Given the description of an element on the screen output the (x, y) to click on. 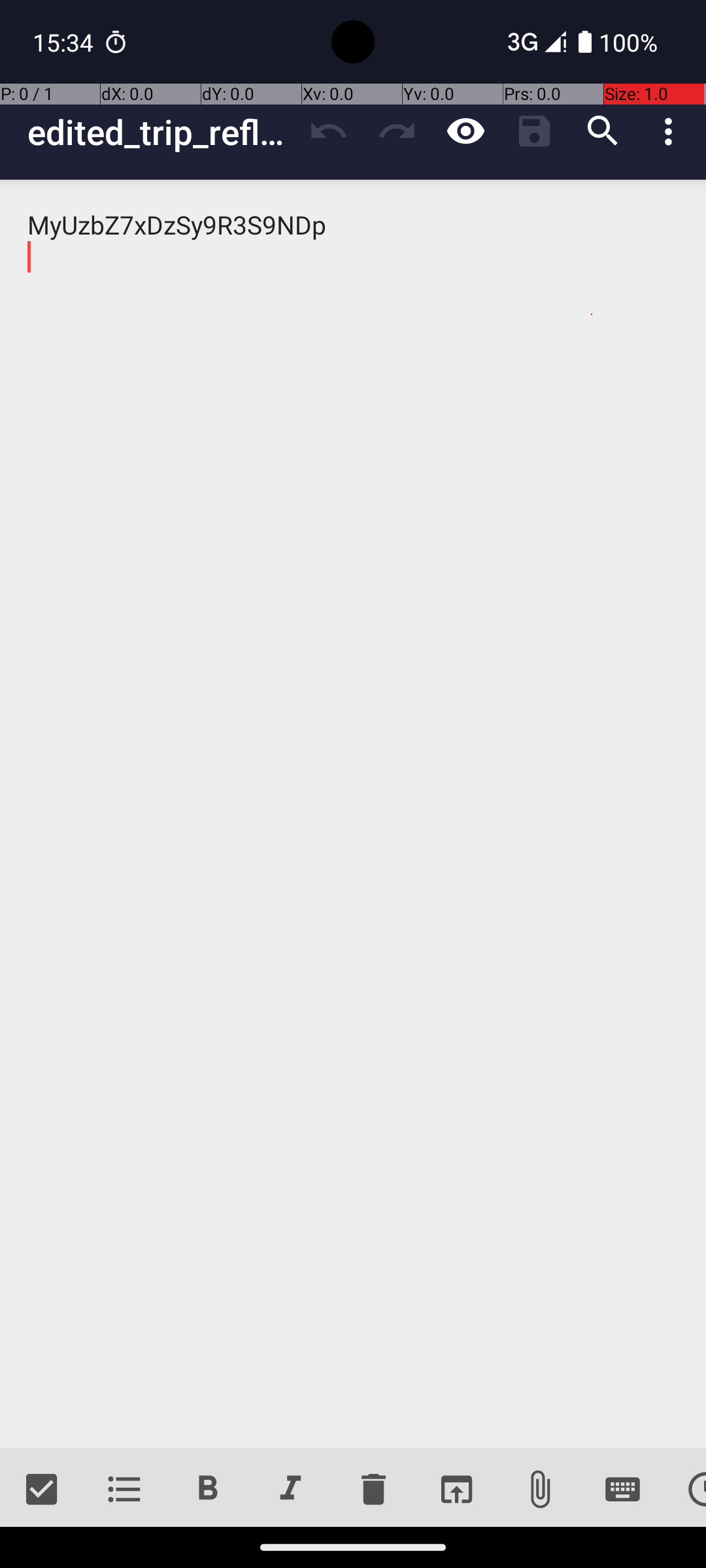
edited_trip_reflections_recent Element type: android.widget.TextView (160, 131)
MyUzbZ7xDzSy9R3S9NDp
 Element type: android.widget.EditText (353, 813)
